Given the description of an element on the screen output the (x, y) to click on. 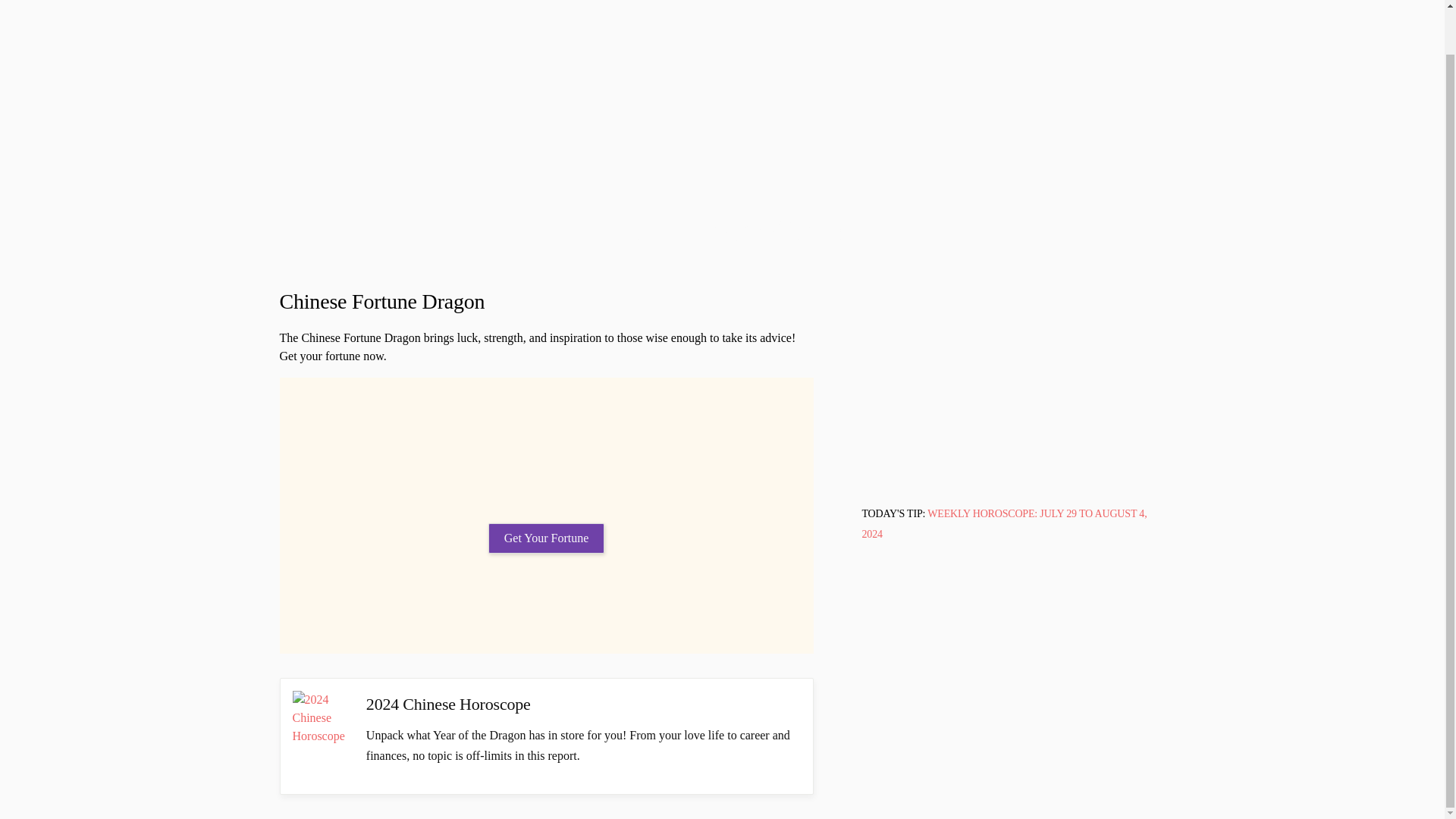
Get Your Fortune (546, 538)
